Given the description of an element on the screen output the (x, y) to click on. 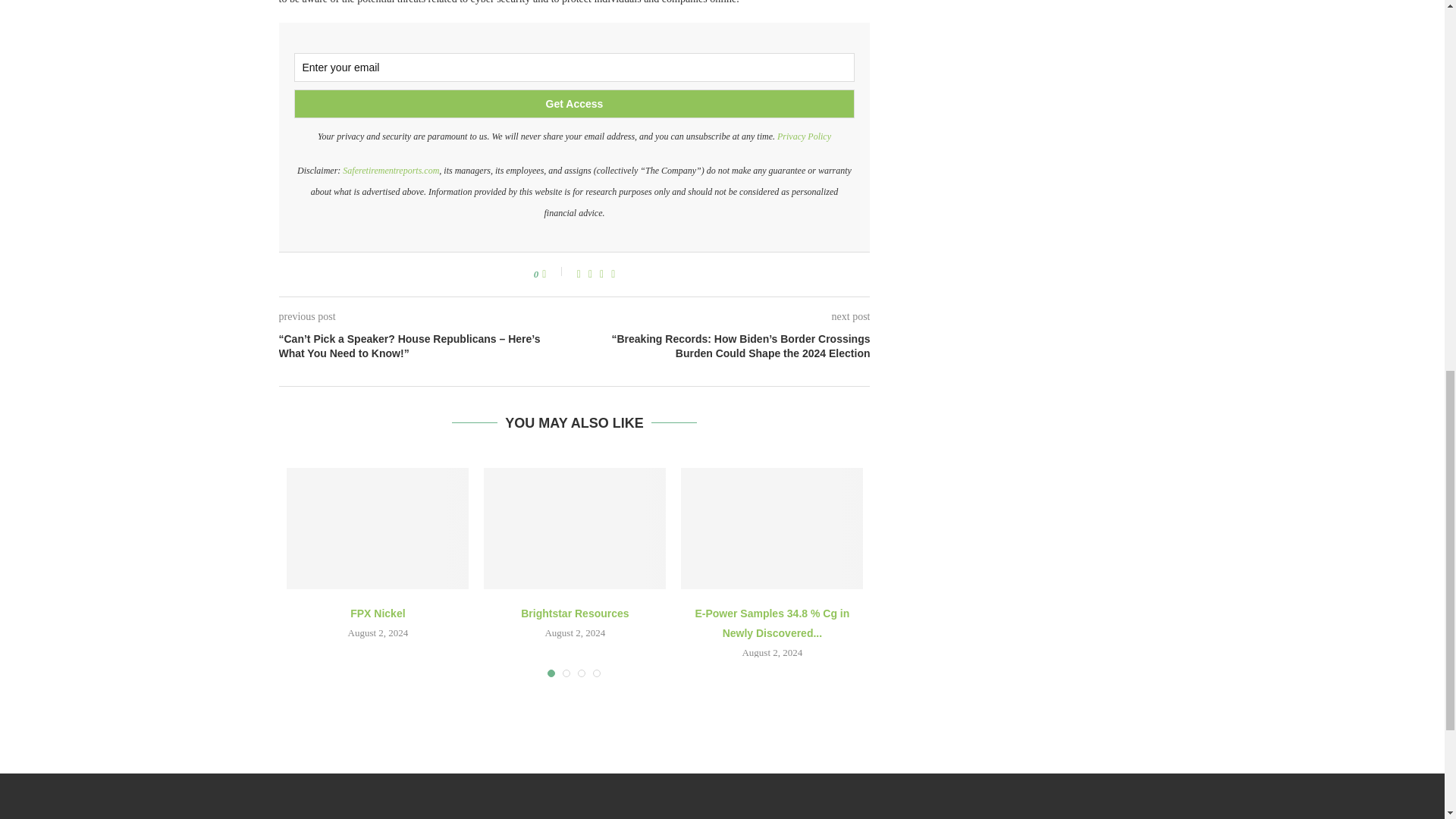
Brightstar Resources (574, 527)
Get Access (575, 103)
Privacy Policy (804, 136)
Like (553, 274)
Saferetirementreports.com (390, 170)
Get Access (575, 103)
FPX Nickel (377, 527)
Enter your email (575, 67)
